Given the description of an element on the screen output the (x, y) to click on. 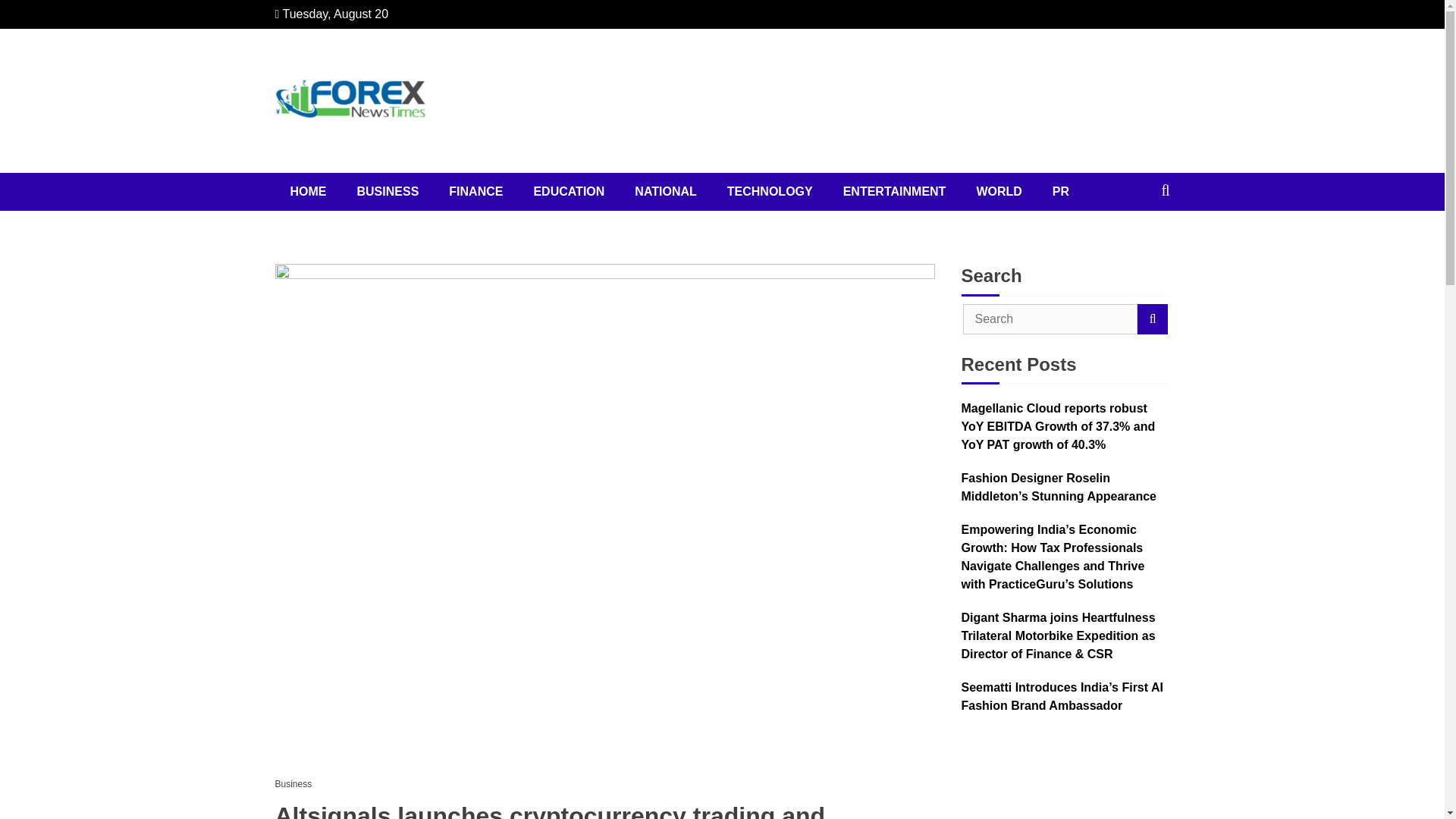
PR (1060, 191)
FINANCE (475, 191)
Forex News Times (407, 176)
WORLD (998, 191)
BUSINESS (386, 191)
TECHNOLOGY (769, 191)
HOME (307, 191)
EDUCATION (569, 191)
Business (296, 783)
ENTERTAINMENT (894, 191)
